Given the description of an element on the screen output the (x, y) to click on. 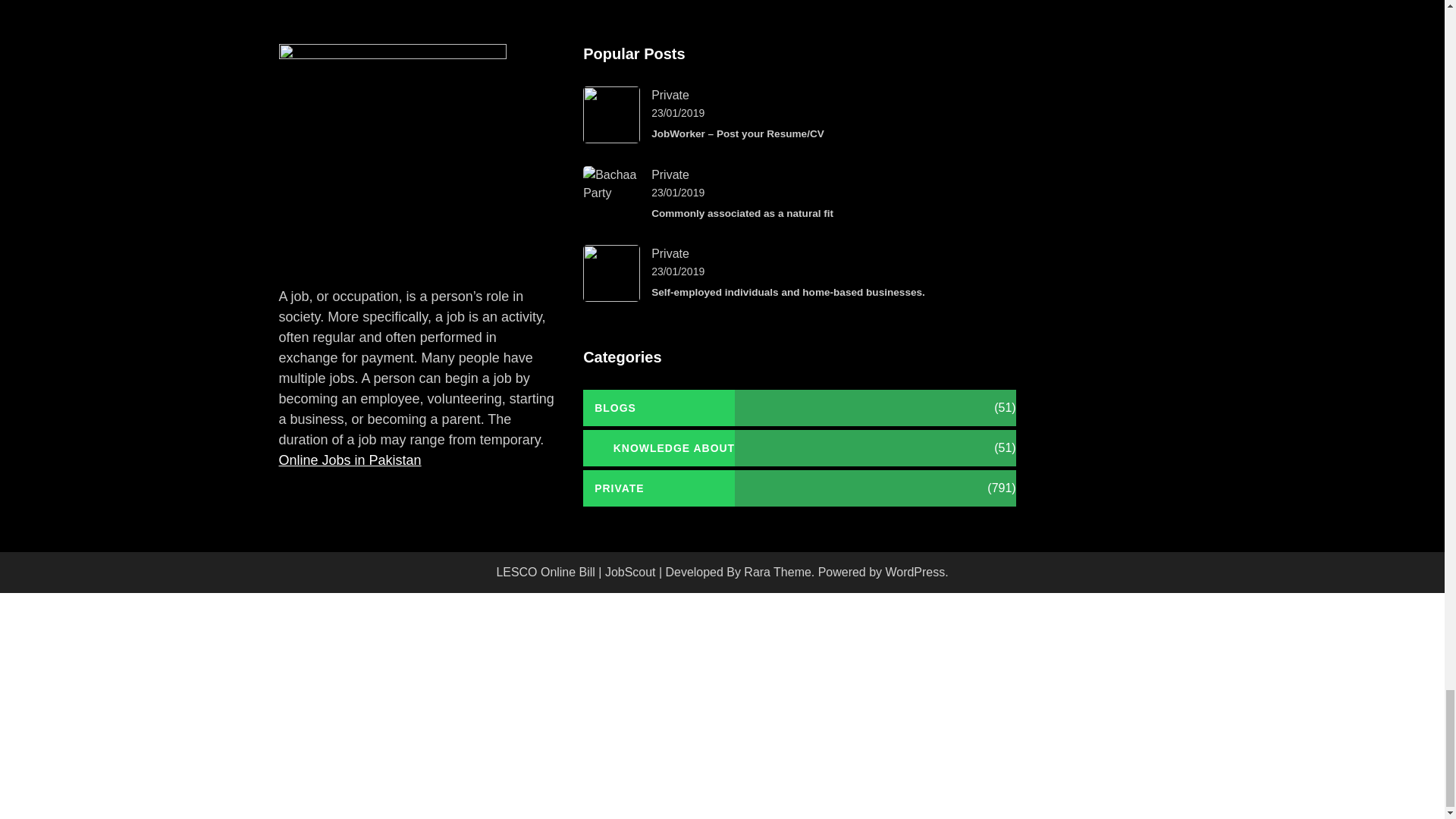
Online Jobs in Pakistan (350, 459)
